Given the description of an element on the screen output the (x, y) to click on. 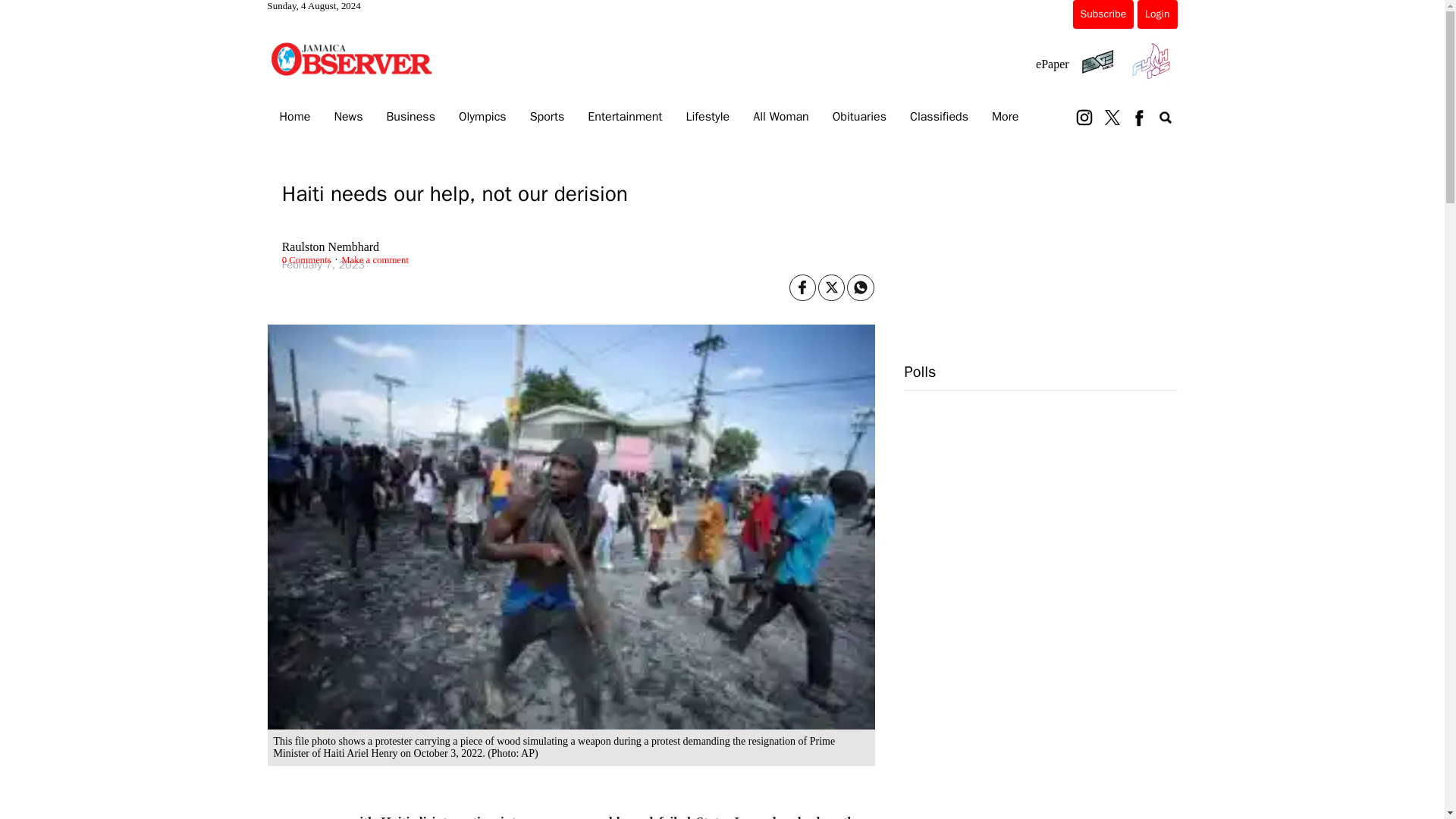
Login (1156, 14)
ePaper (1051, 64)
Subscribe (1103, 14)
